Given the description of an element on the screen output the (x, y) to click on. 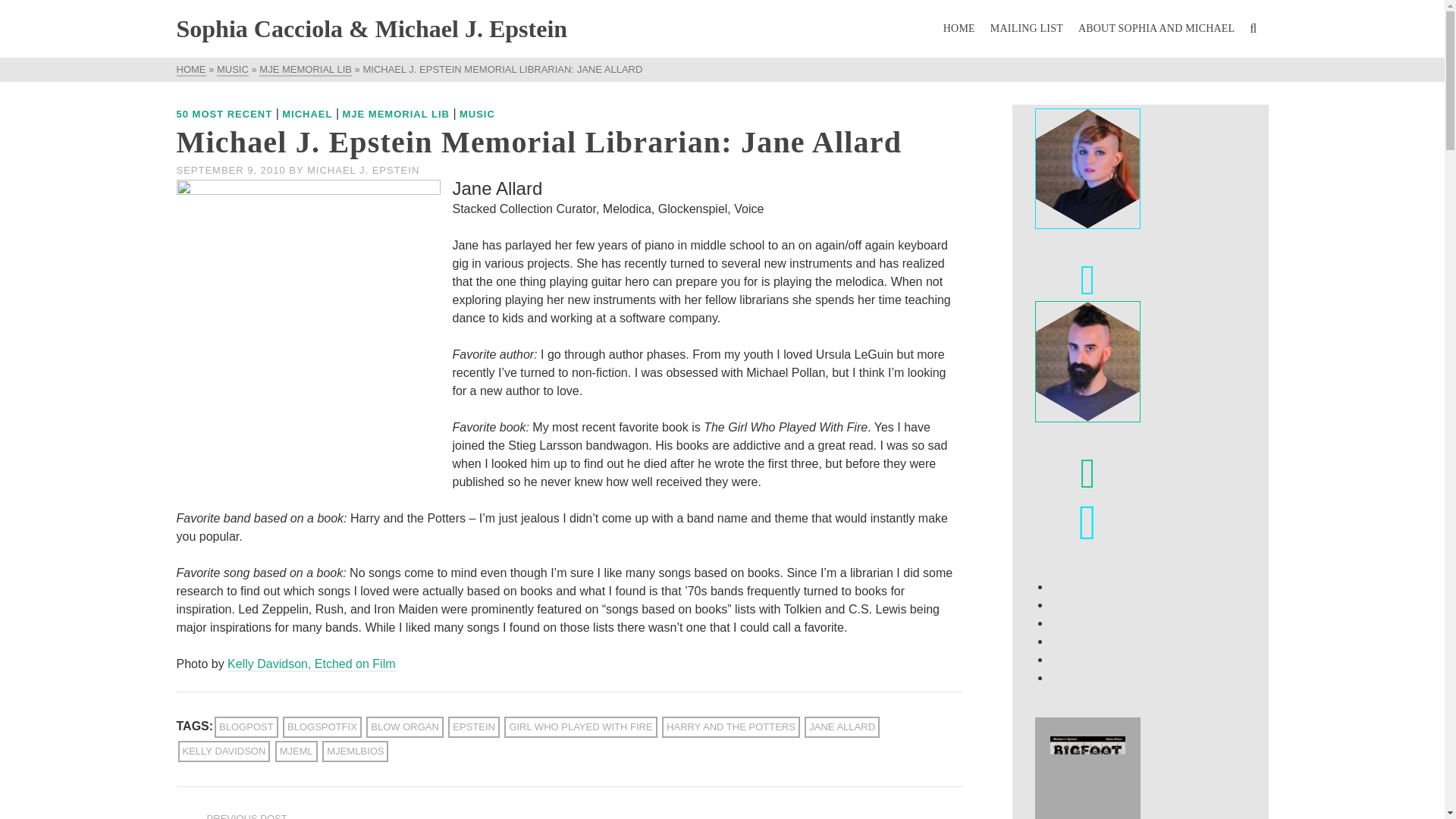
MJEMLBIOS (354, 751)
MJE MEMORIAL LIB (305, 69)
JANE ALLARD (842, 726)
BLOGPOST (246, 726)
HARRY AND THE POTTERS (730, 726)
MICHAEL (306, 113)
BLOGSPOTFIX (321, 726)
MAILING LIST (1026, 28)
HOME (959, 28)
MUSIC (232, 69)
BLOW ORGAN (405, 726)
50 MOST RECENT (224, 113)
MJE MEMORIAL LIB (395, 113)
GIRL WHO PLAYED WITH FIRE (579, 726)
MICHAEL J. EPSTEIN (363, 170)
